Given the description of an element on the screen output the (x, y) to click on. 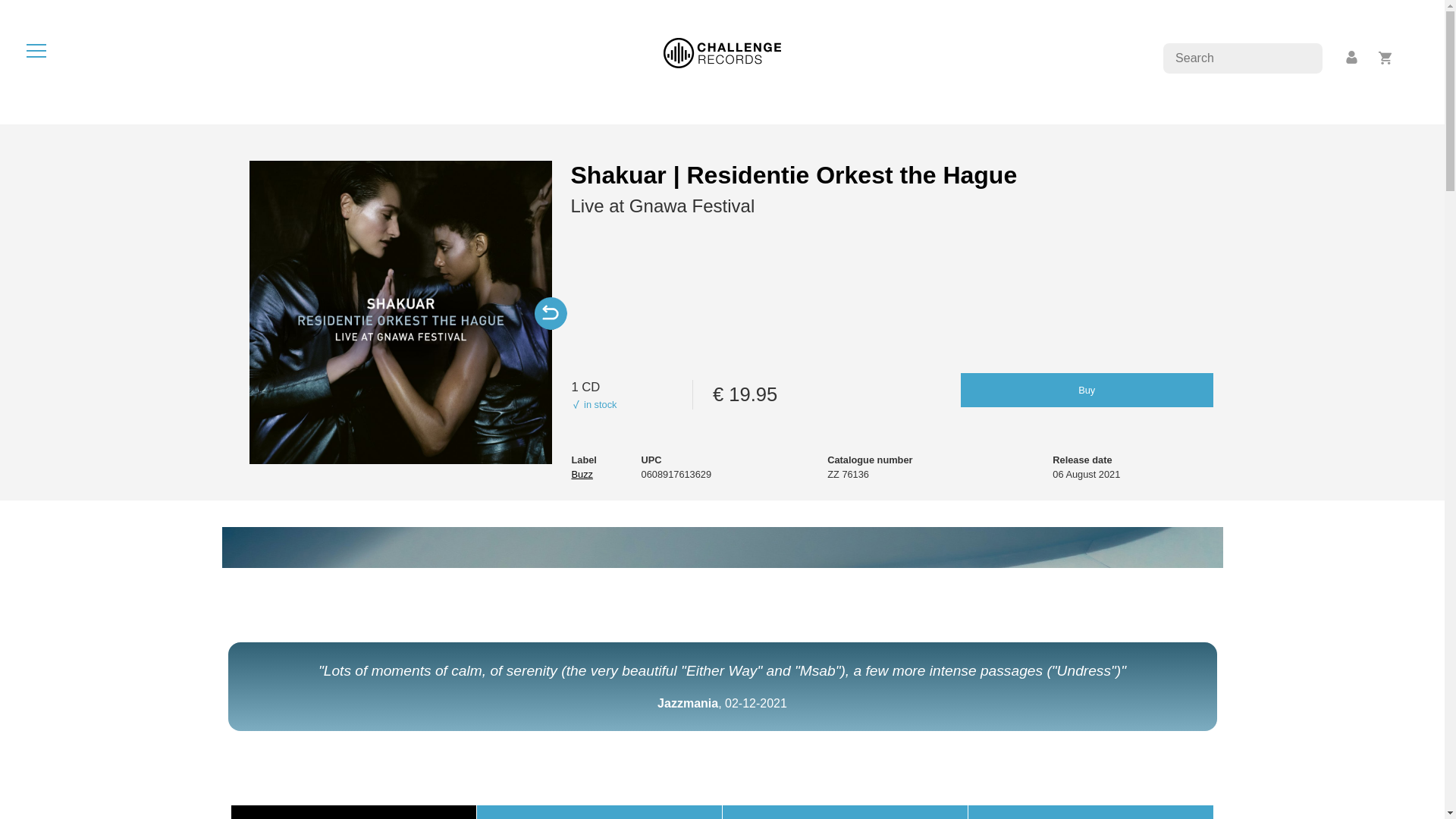
Buy (1086, 390)
account (1352, 57)
basket (1385, 57)
Buzz (581, 473)
open the menu (36, 49)
